Given the description of an element on the screen output the (x, y) to click on. 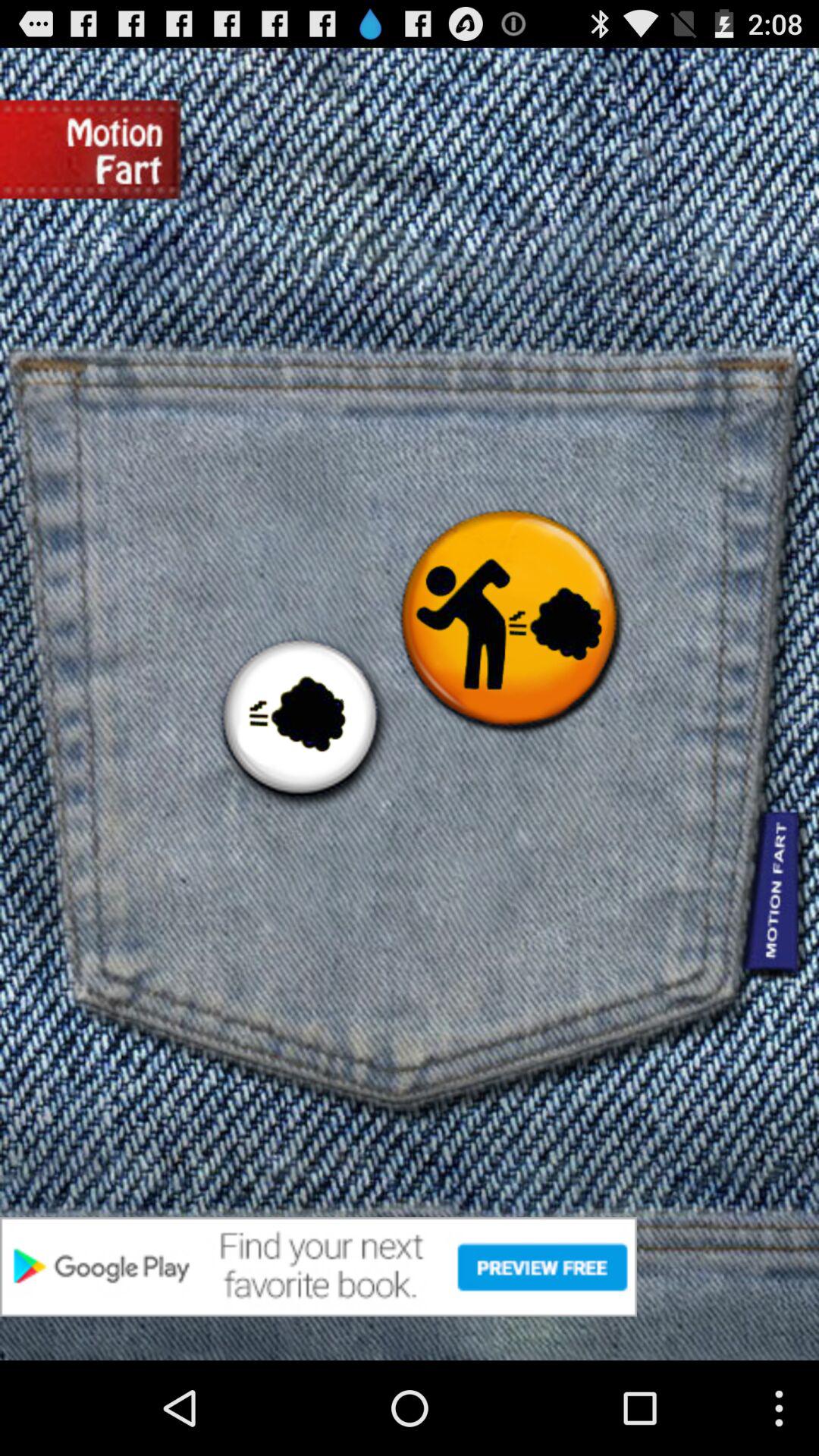
advertisement click (409, 1266)
